Given the description of an element on the screen output the (x, y) to click on. 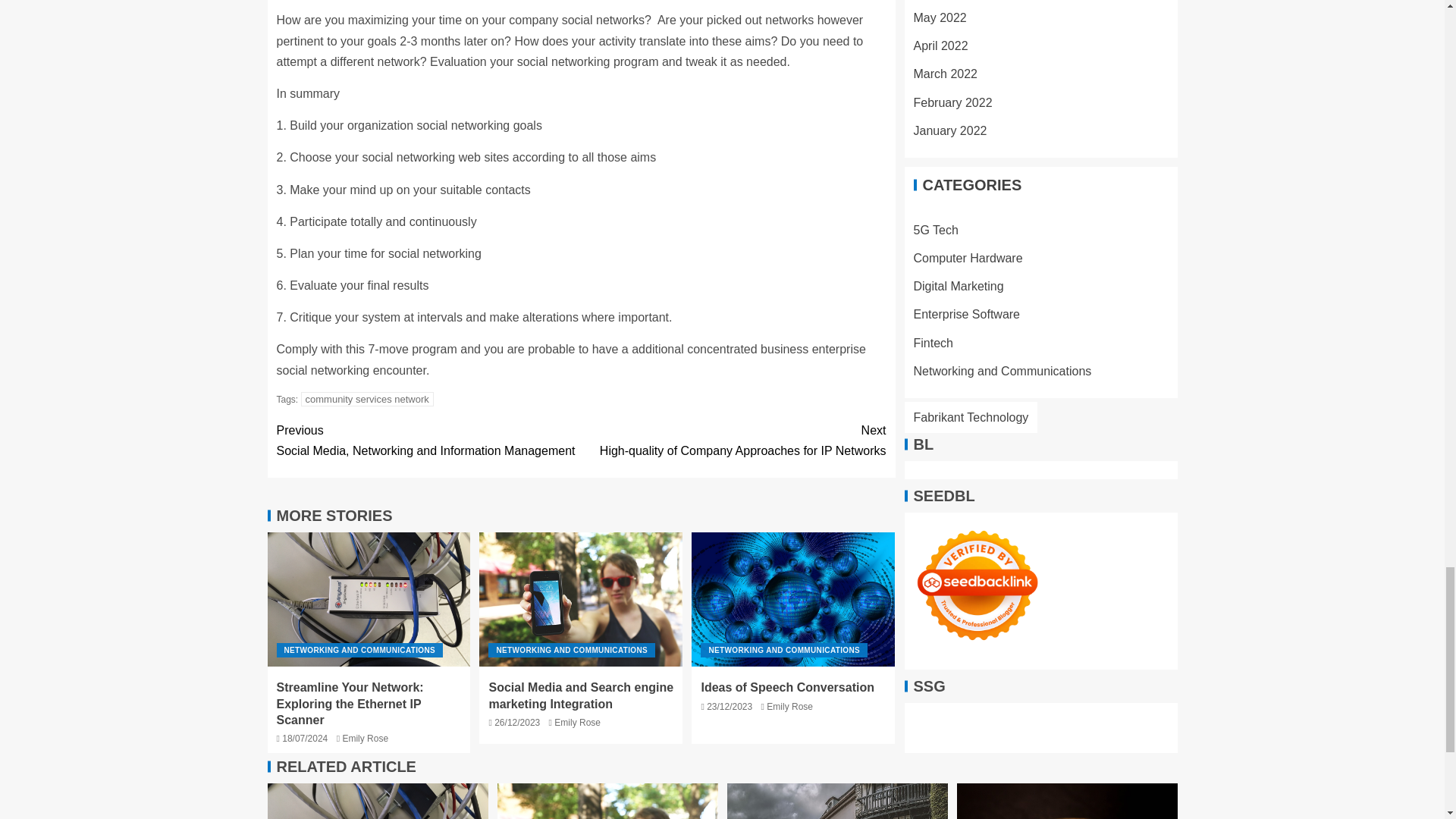
Ideas of Speech Conversation (793, 599)
NETWORKING AND COMMUNICATIONS (359, 649)
Streamline Your Network: Exploring the Ethernet IP Scanner (349, 703)
Social Media and Search engine marketing Integration (607, 800)
NETWORKING AND COMMUNICATIONS (783, 649)
Emily Rose (576, 722)
The iPod Information for Rookies and Not-so-Newbies (836, 800)
Streamline Your Network: Exploring the Ethernet IP Scanner (368, 599)
Emily Rose (789, 706)
Social Media and Search engine marketing Integration (579, 695)
The Essentials of Cryptocurrency and the Way It Operates (1066, 800)
Emily Rose (365, 738)
Streamline Your Network: Exploring the Ethernet IP Scanner (428, 440)
Social Media and Search engine marketing Integration (376, 800)
